Given the description of an element on the screen output the (x, y) to click on. 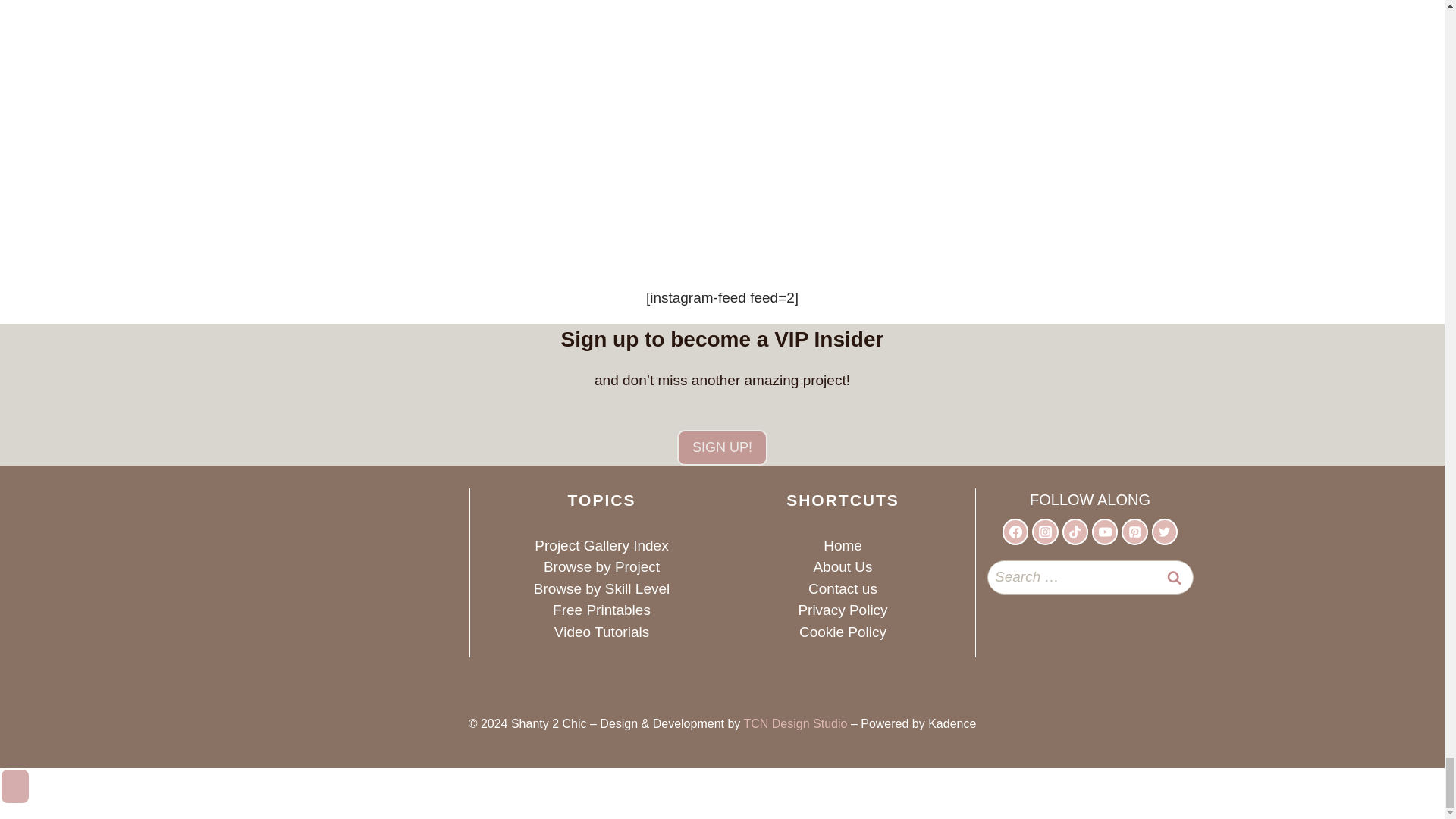
Search (1174, 577)
Search (1174, 577)
